Given the description of an element on the screen output the (x, y) to click on. 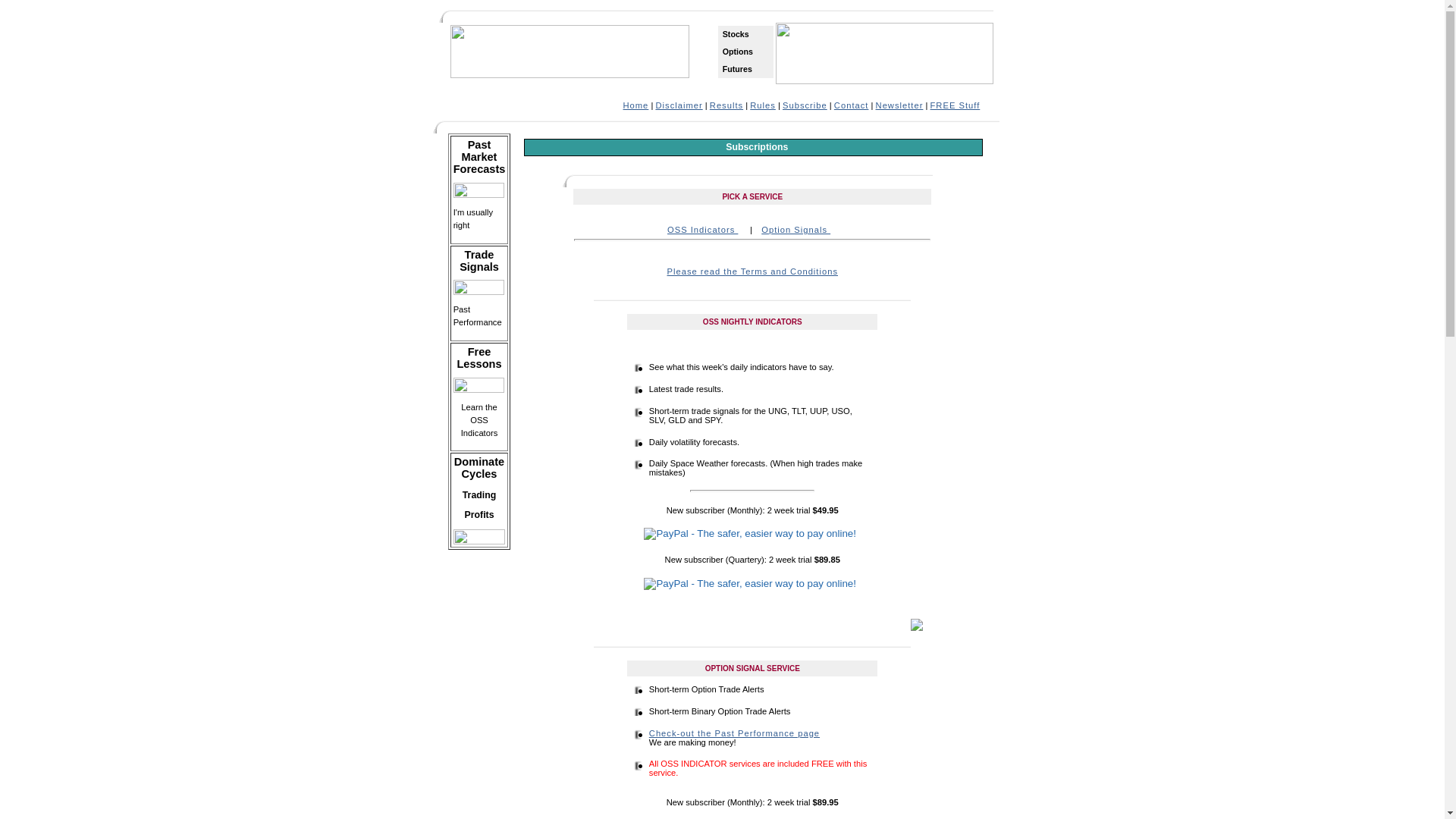
OSS Indicators Element type: text (702, 229)
Please read the Terms and Conditions Element type: text (752, 271)
Rules Element type: text (762, 104)
Disclaimer Element type: text (678, 104)
Check-out the Past Performance page Element type: text (734, 732)
Newsletter Element type: text (899, 104)
FREE Stuff Element type: text (955, 104)
Contact Element type: text (851, 104)
Home Element type: text (636, 104)
Results Element type: text (726, 104)
Subscribe Element type: text (804, 104)
Option Signals Element type: text (795, 229)
